Given the description of an element on the screen output the (x, y) to click on. 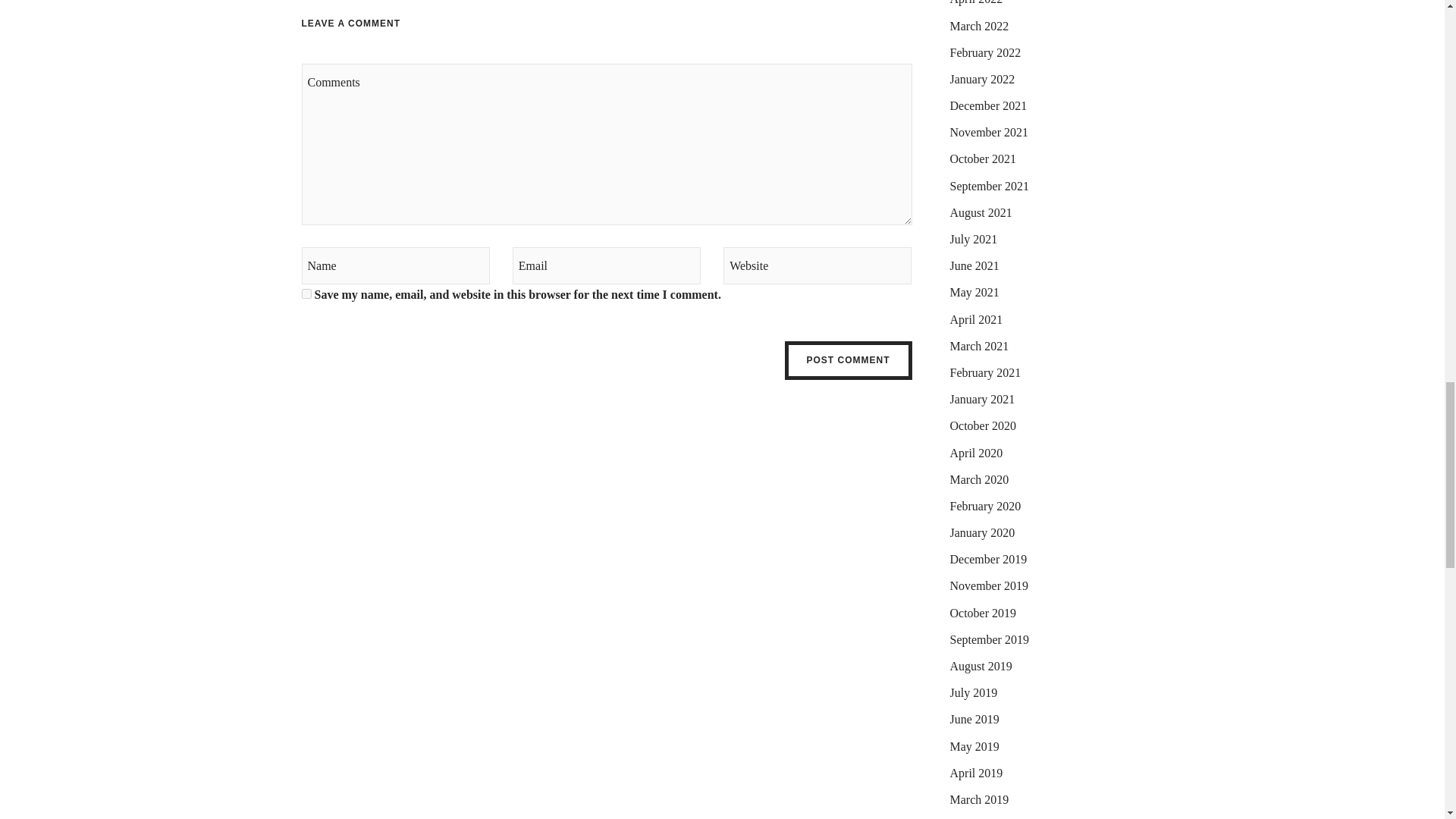
yes (306, 293)
Post Comment (847, 360)
